Given the description of an element on the screen output the (x, y) to click on. 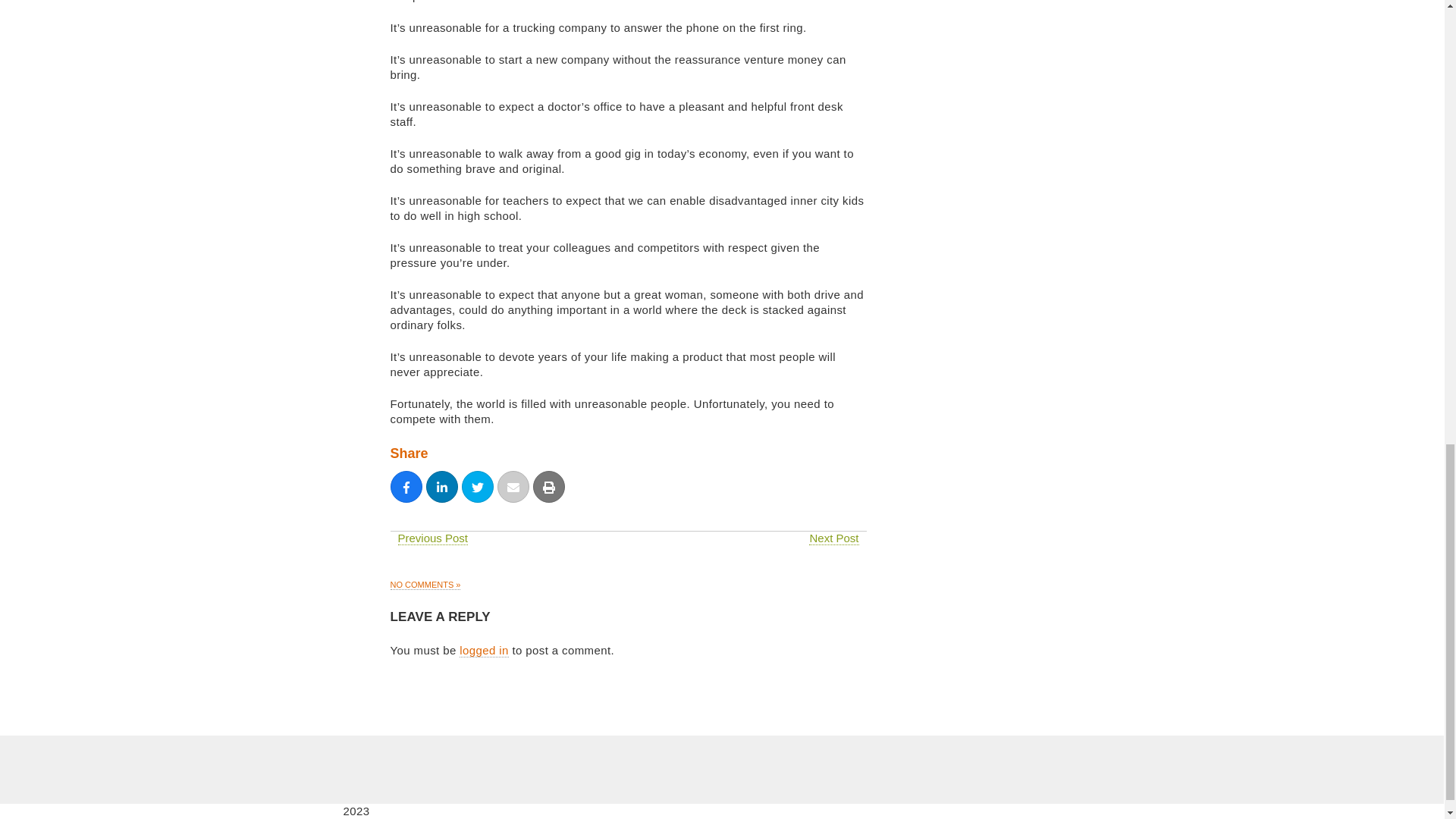
Next Post (834, 538)
logged in (484, 650)
Previous Post (432, 538)
